Given the description of an element on the screen output the (x, y) to click on. 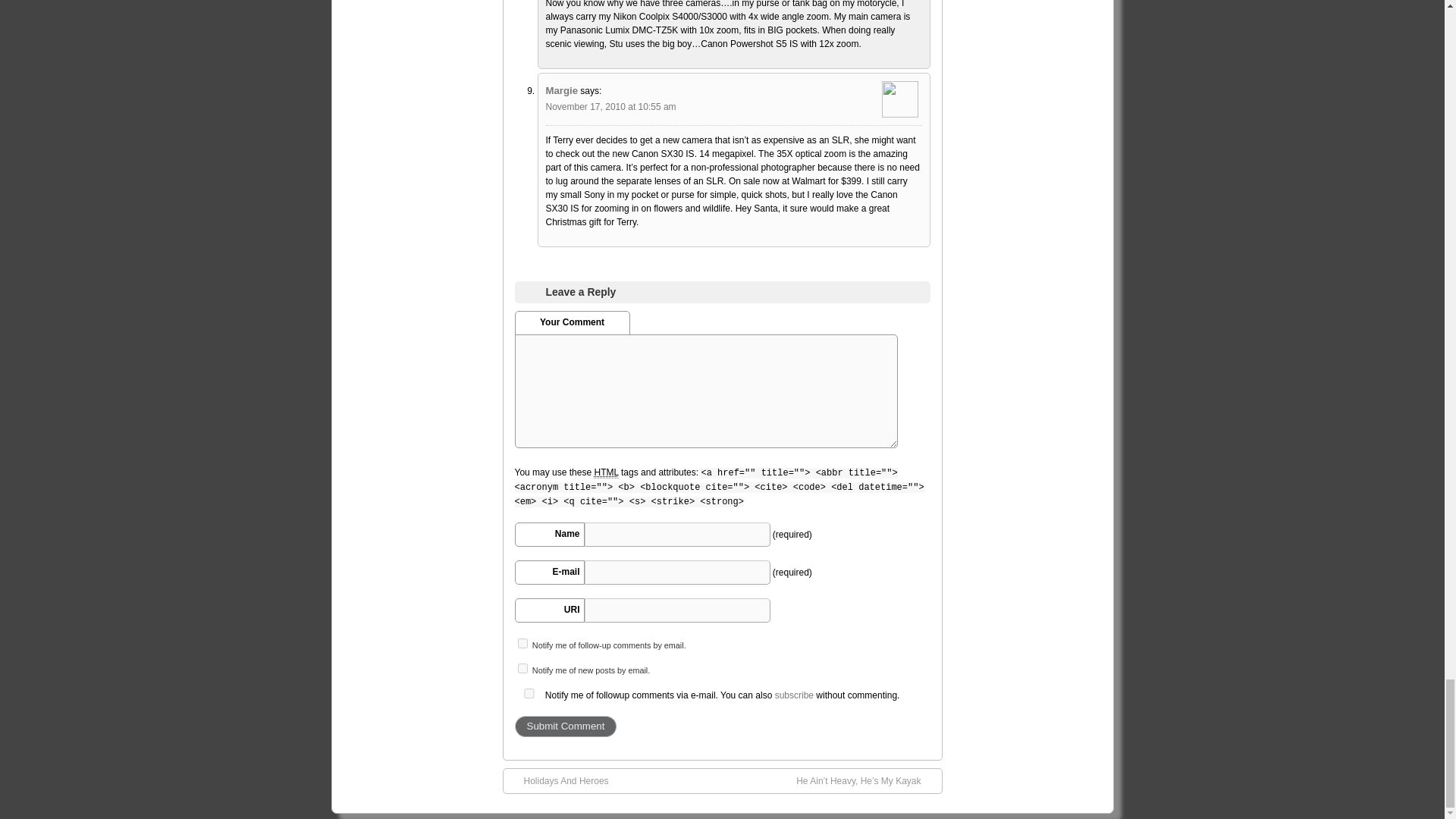
yes (528, 693)
Submit Comment (564, 726)
subscribe (521, 668)
subscribe (521, 643)
